Given the description of an element on the screen output the (x, y) to click on. 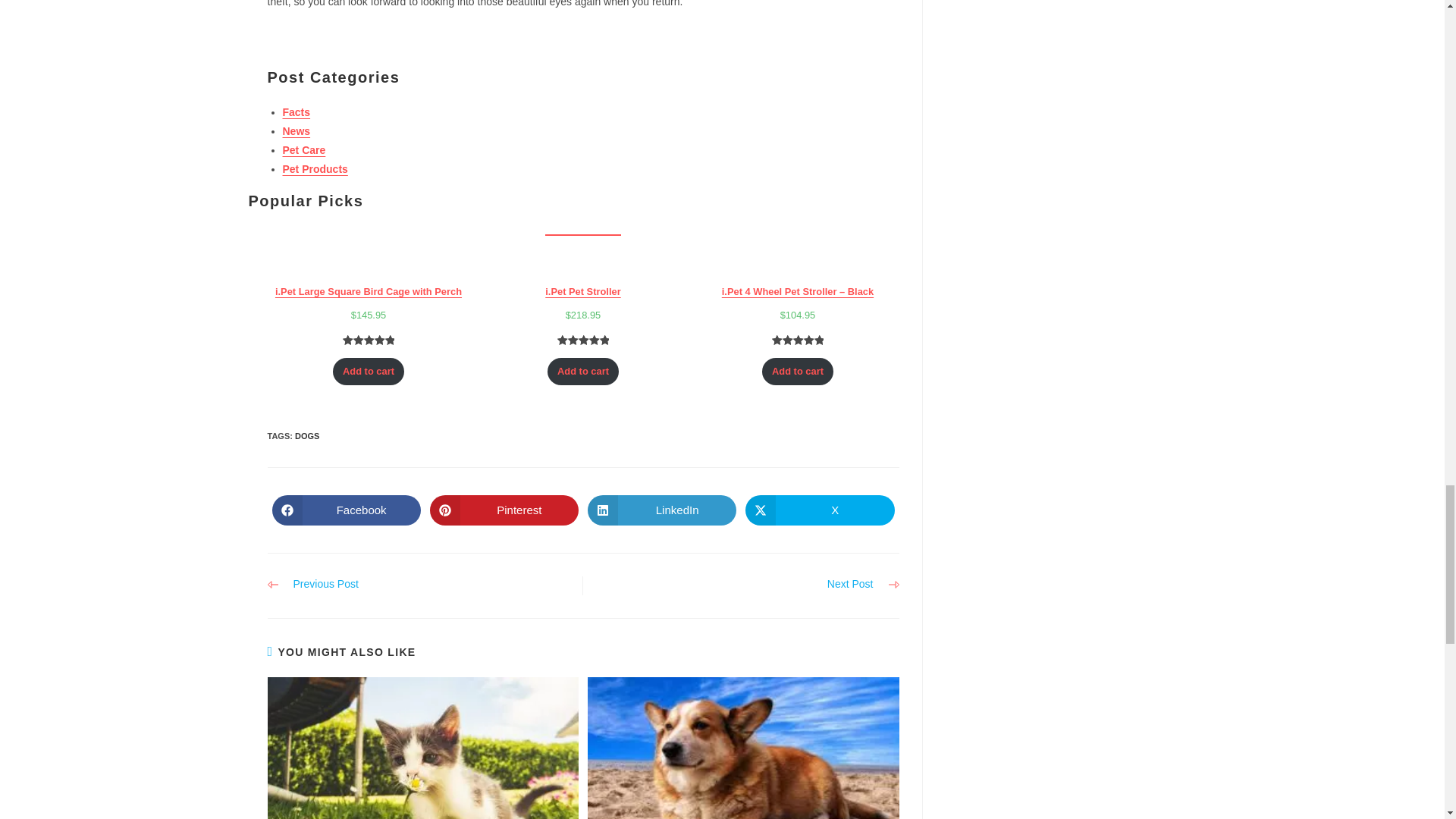
Dog theft (743, 748)
Dog theft (422, 748)
